Given the description of an element on the screen output the (x, y) to click on. 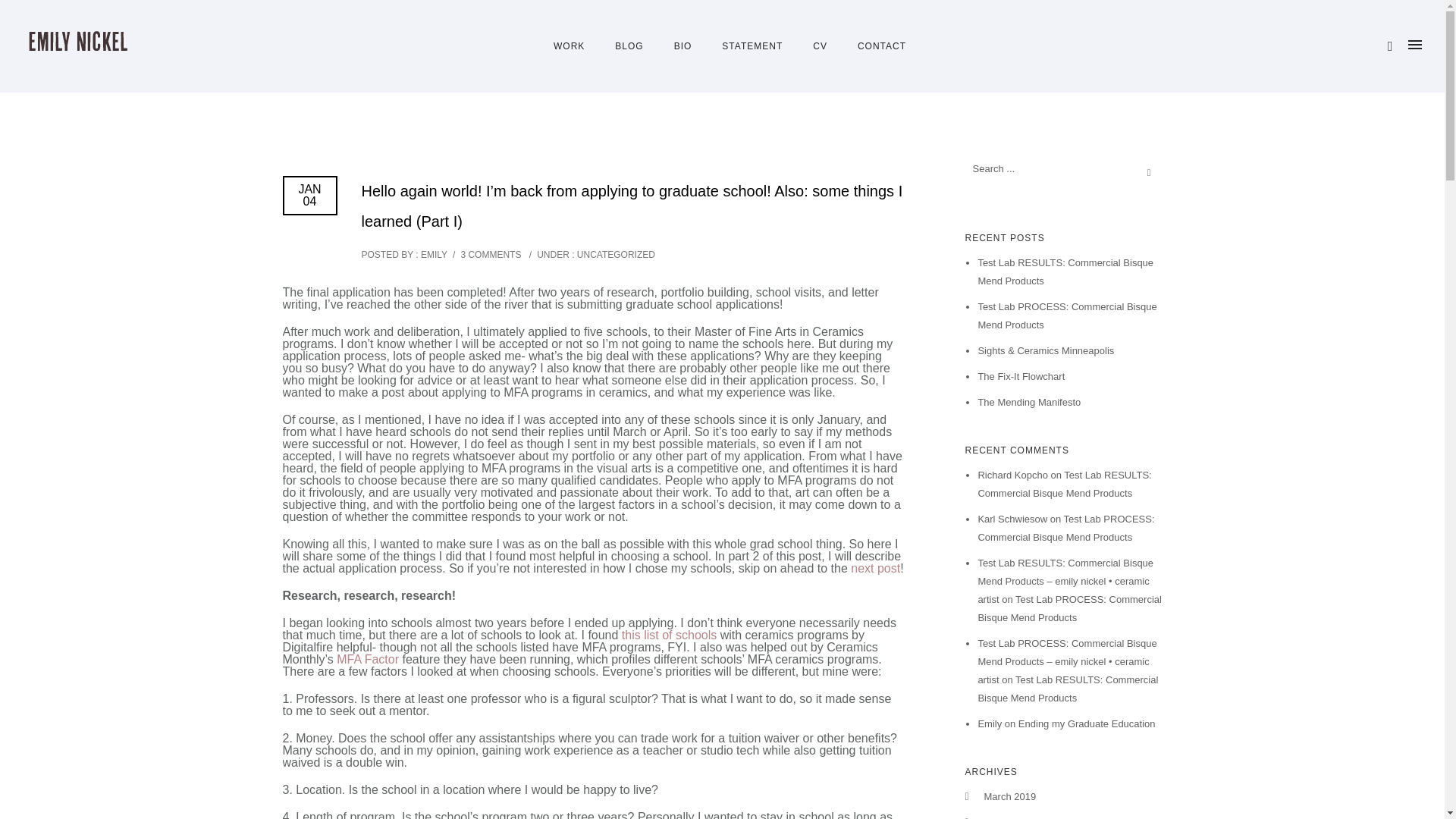
BLOG (628, 45)
MFA Factor (367, 658)
next post (874, 567)
UNCATEGORIZED (613, 254)
WORK (568, 45)
STATEMENT (751, 45)
View all posts in Uncategorized (613, 254)
3 COMMENTS (490, 254)
CONTACT (874, 45)
CV (820, 45)
